Given the description of an element on the screen output the (x, y) to click on. 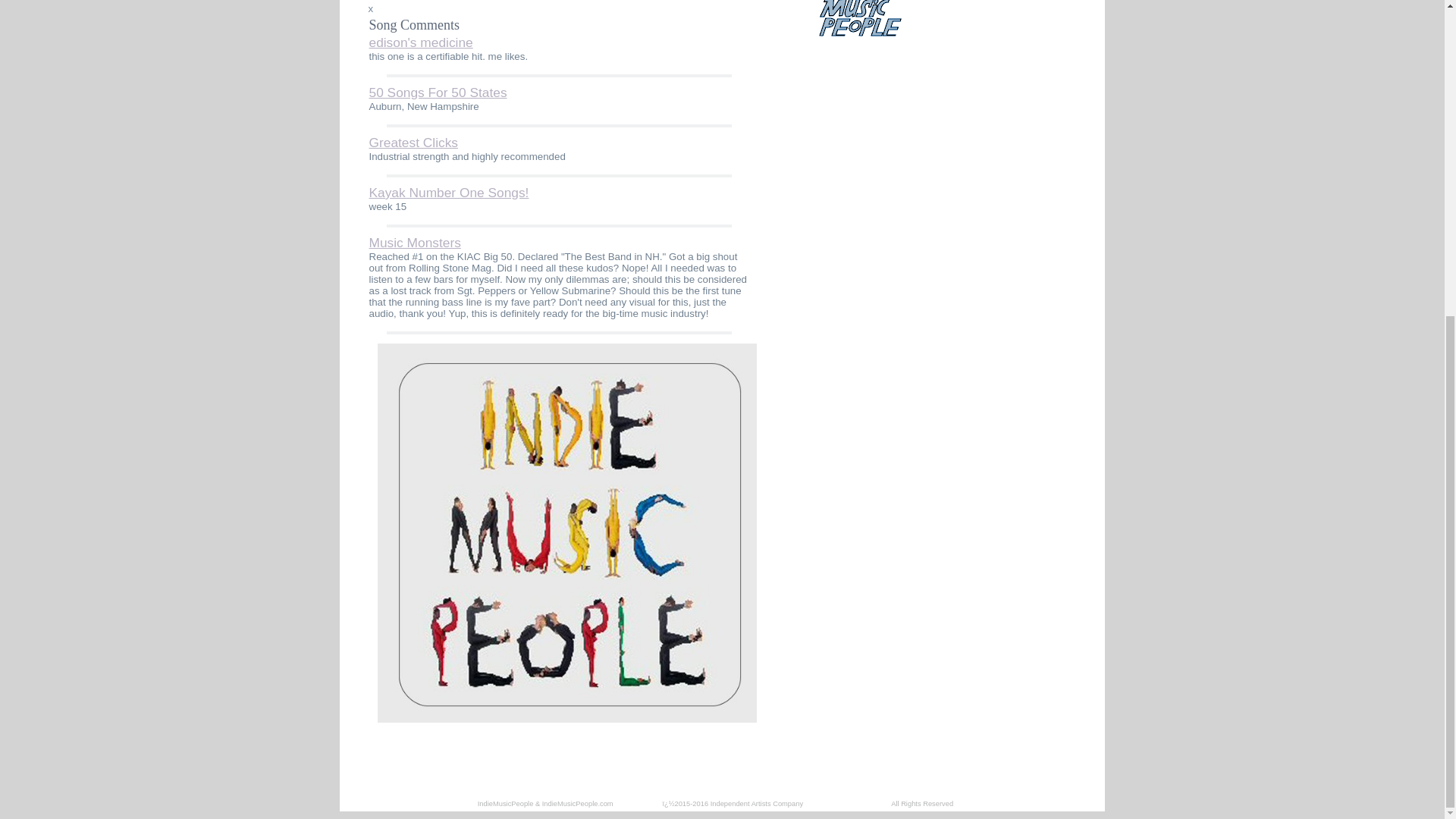
Music Monsters (414, 242)
edison's medicine (419, 42)
Greatest Clicks (412, 142)
50 Songs For 50 States (437, 92)
Kayak Number One Songs! (448, 192)
